Given the description of an element on the screen output the (x, y) to click on. 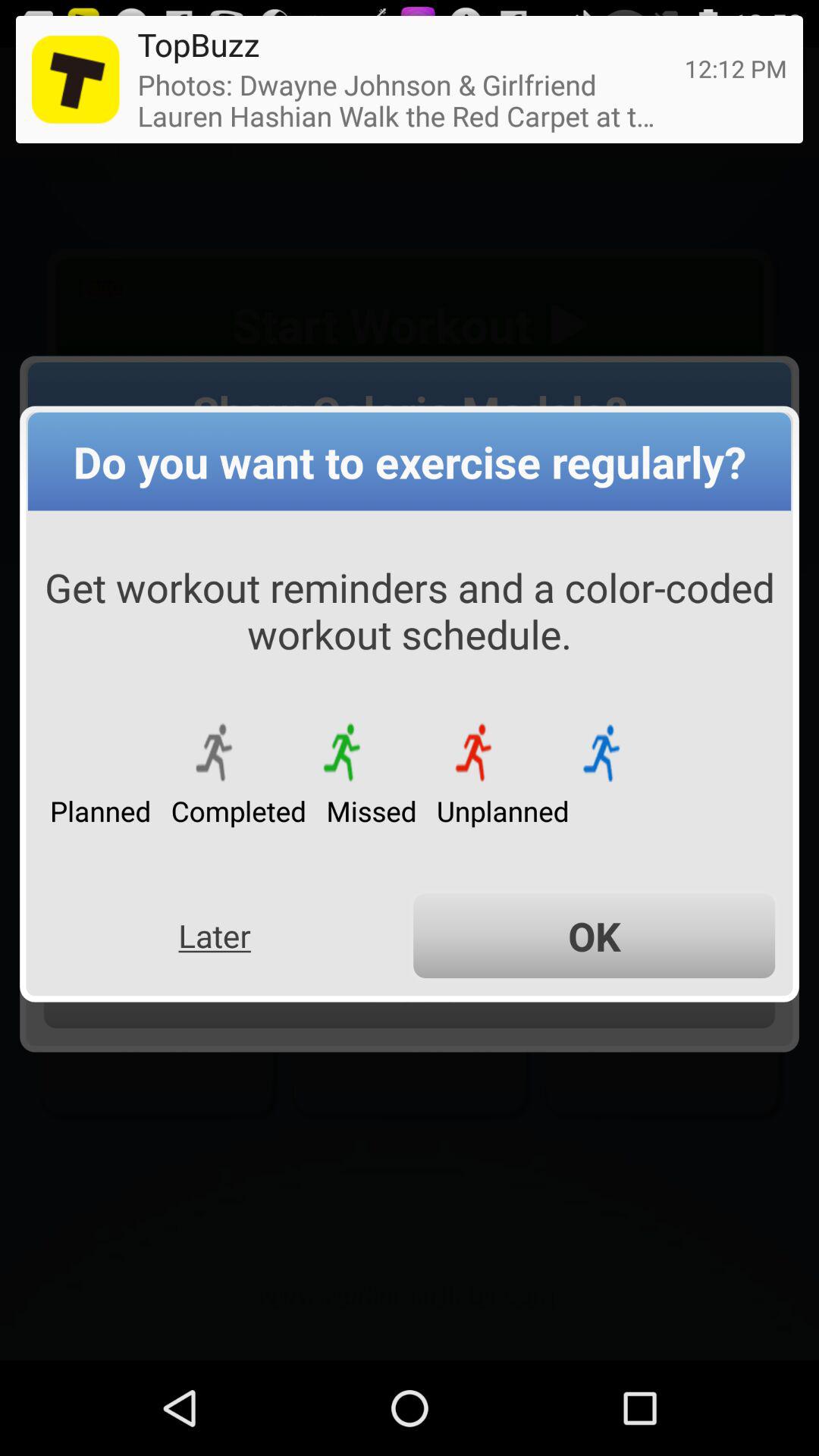
choose the app below the planned item (214, 935)
